Given the description of an element on the screen output the (x, y) to click on. 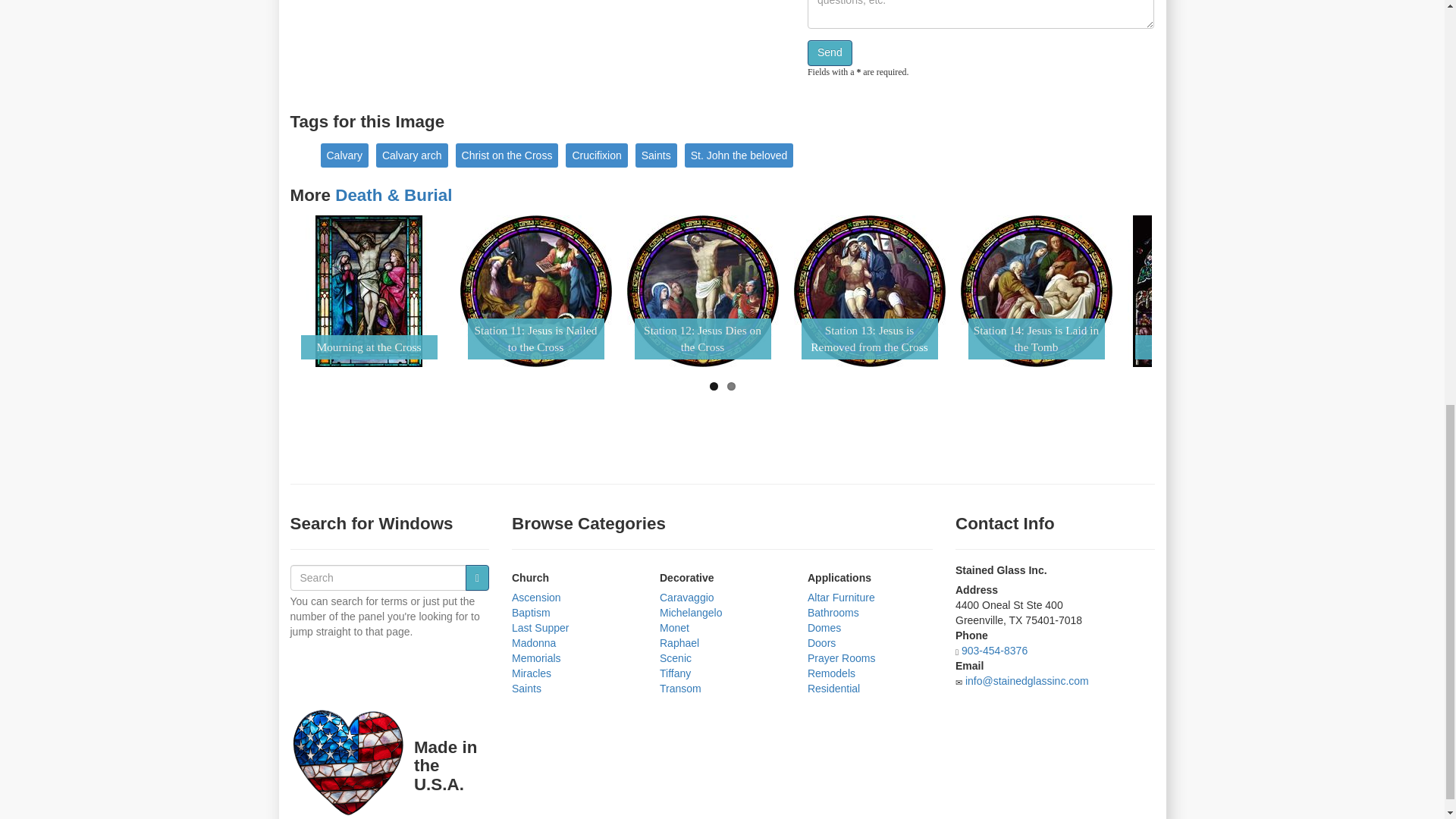
Station 13: Jesus is Removed from the Cross (868, 290)
St. John the beloved (738, 155)
Station 12: Jesus Dies on the Cross (701, 290)
The Crucifixion (1202, 290)
Saints (655, 155)
Station 11: Jesus is Nailed to the Cross (535, 290)
Calvary (344, 155)
1 (713, 386)
Station 14: Jesus is Laid in the Tomb (1035, 290)
Christ on the Cross (507, 155)
Calvary arch (411, 155)
Mourning at the Cross (368, 290)
Crucifixion (596, 155)
2 (730, 386)
Send (829, 53)
